Given the description of an element on the screen output the (x, y) to click on. 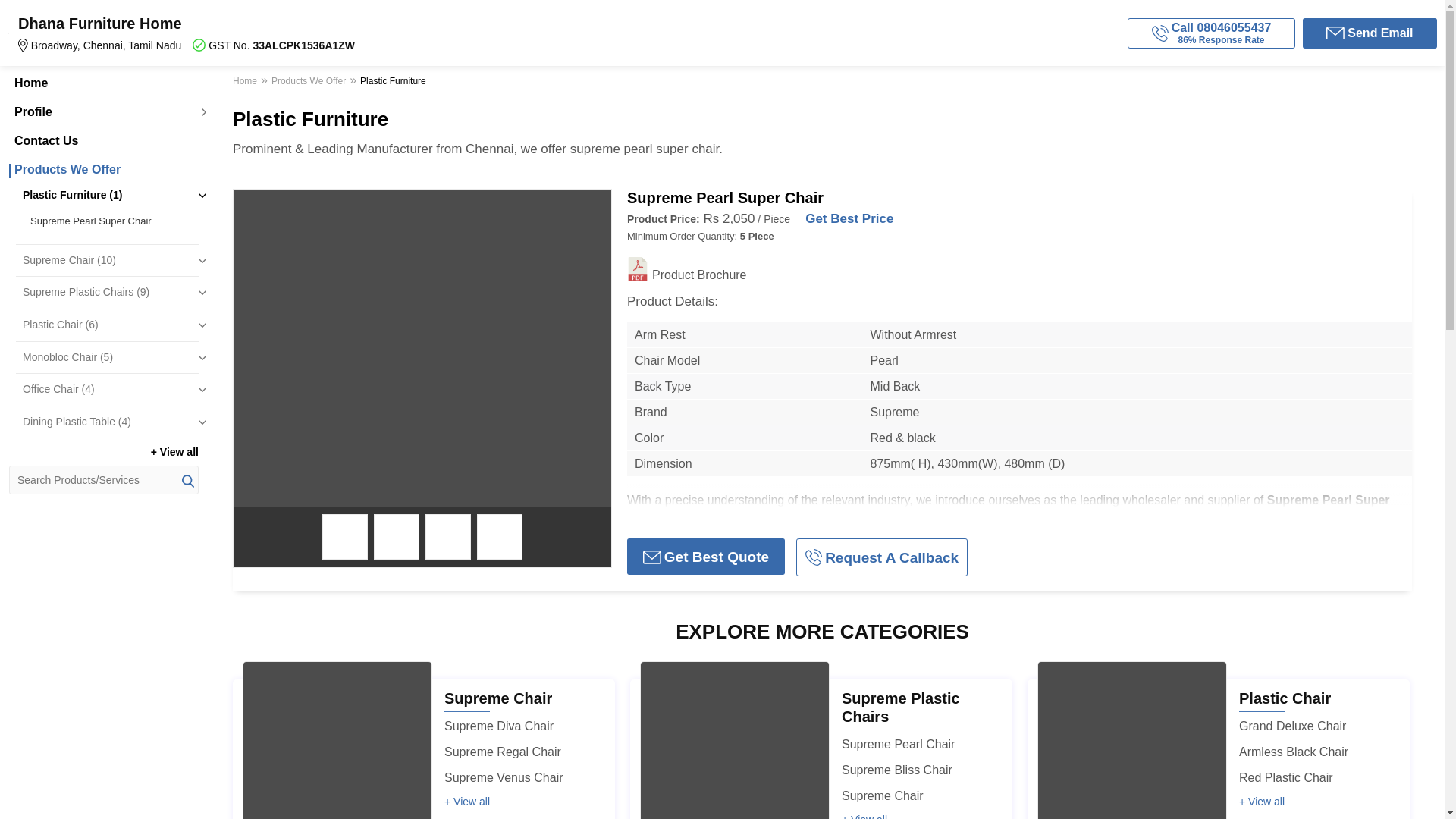
Products We Offer (103, 169)
Home (103, 82)
Contact Us (103, 141)
Profile (103, 111)
Supreme Pearl Super Chair (110, 221)
